Given the description of an element on the screen output the (x, y) to click on. 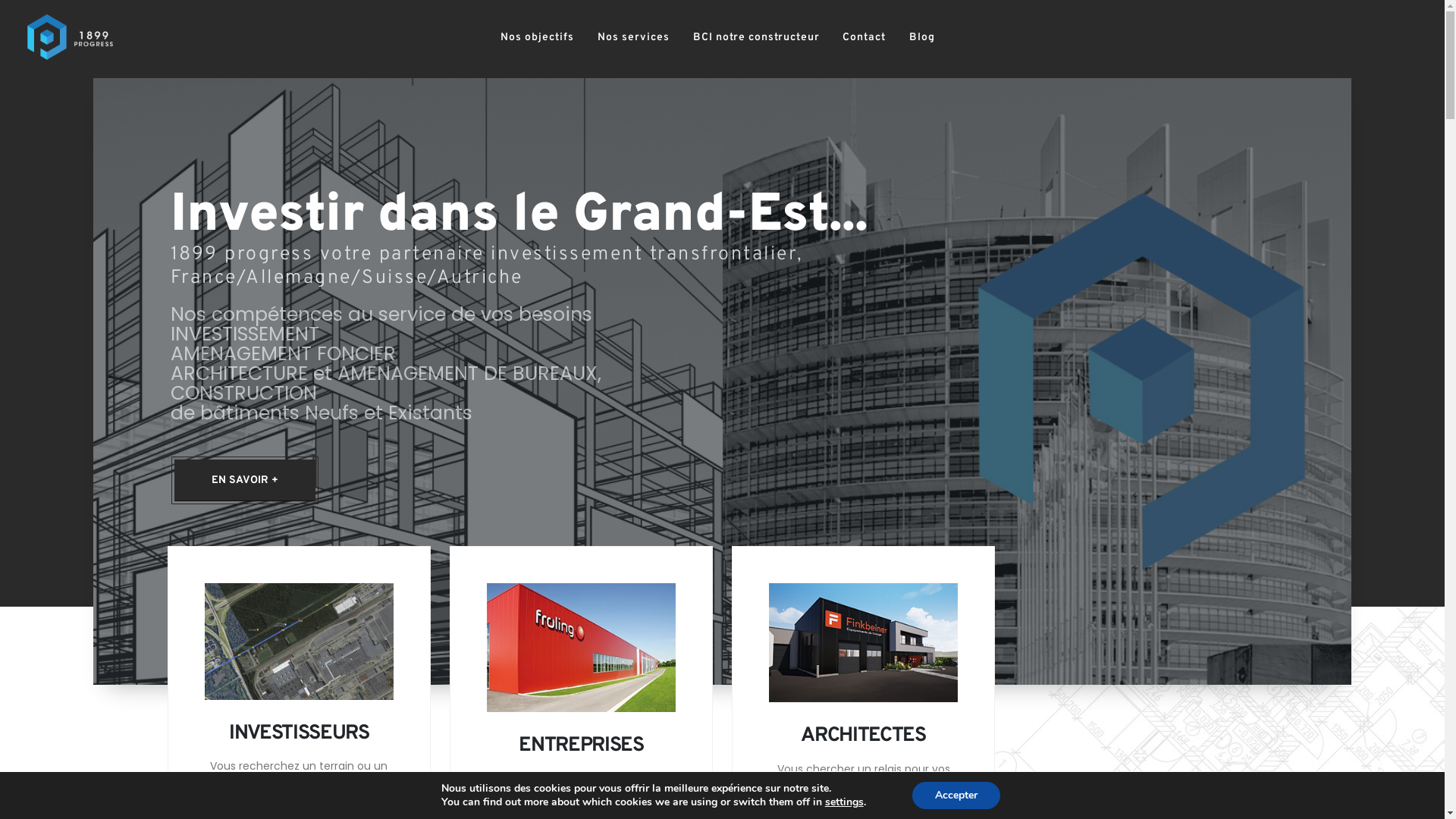
BCI notre constructeur Element type: text (755, 37)
settings Element type: text (844, 802)
Contact Element type: text (864, 37)
1899progtess3 Element type: hover (1036, 381)
1899progress Element type: hover (407, 381)
Nos objectifs Element type: text (537, 37)
1899progress Element type: hover (862, 642)
Blog Element type: text (922, 37)
Accepter Element type: text (956, 795)
MAPS2D_PSA-parcelle-31-13Ha Element type: hover (298, 641)
EN SAVOIR + Element type: text (244, 480)
1899progress30 Element type: hover (580, 647)
Nos services Element type: text (633, 37)
